Given the description of an element on the screen output the (x, y) to click on. 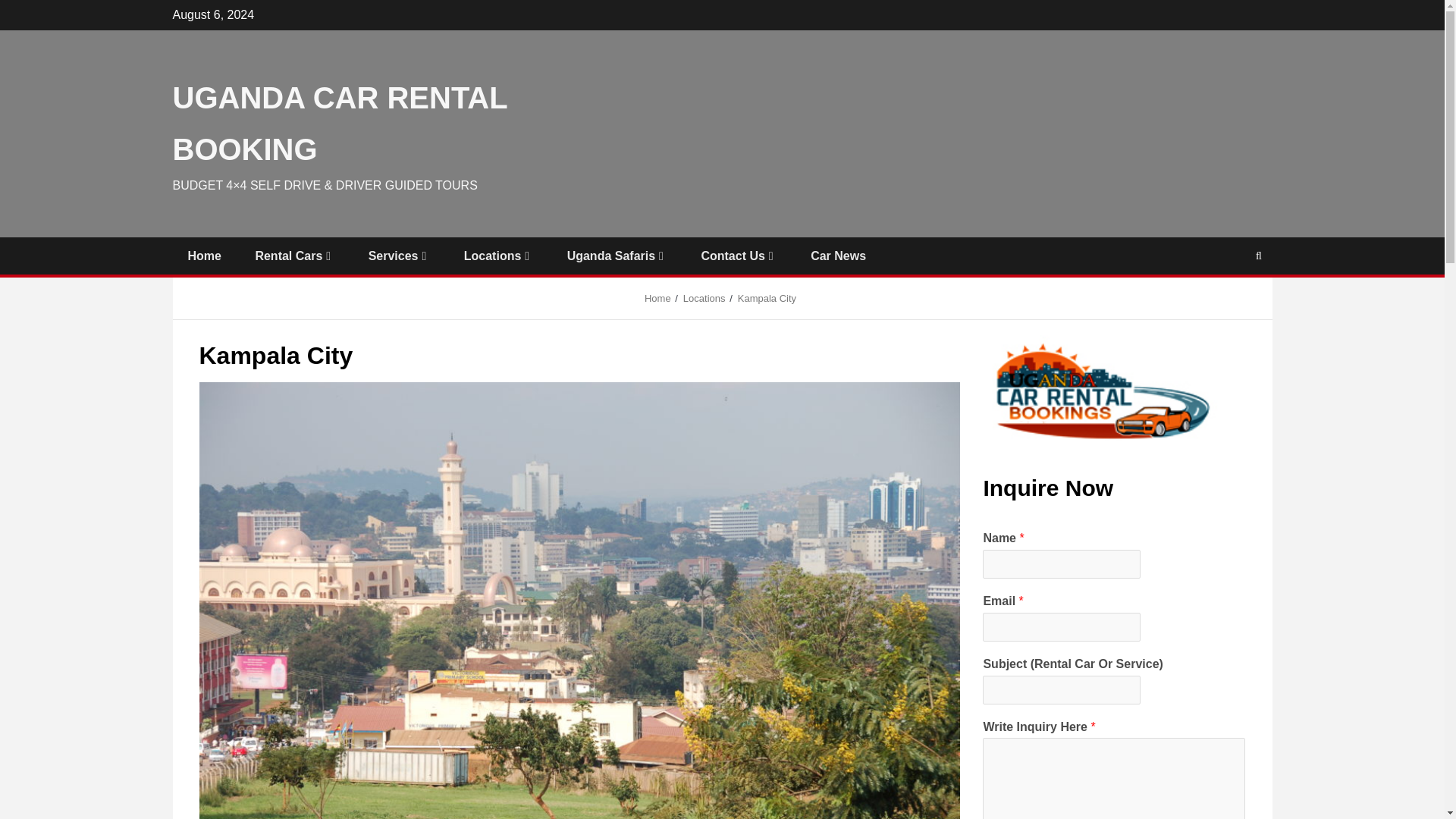
UGANDA CAR RENTAL BOOKING (339, 123)
Home (204, 255)
Rental Cars (294, 255)
